Given the description of an element on the screen output the (x, y) to click on. 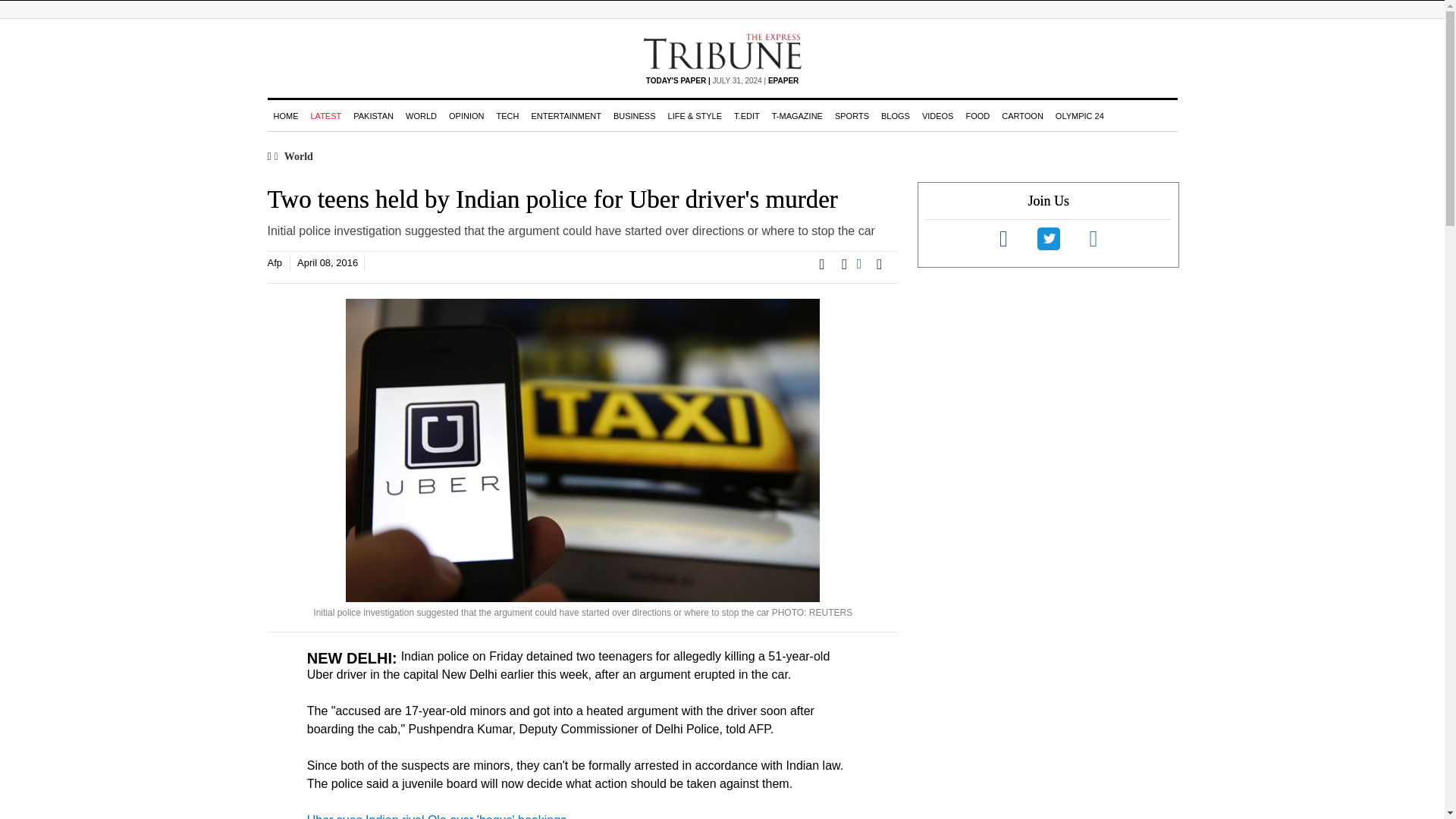
CARTOON (1022, 114)
FOOD (977, 114)
LATEST (325, 114)
BLOGS (895, 114)
SPORTS (851, 114)
EPAPER (782, 80)
PAKISTAN (372, 114)
Uber sues Indian rival Ola over 'bogus' bookings (436, 816)
WORLD (420, 114)
TECH (506, 114)
OLYMPIC 24 (1079, 114)
T-MAGAZINE (796, 114)
OPINION (465, 114)
HOME (285, 114)
